Given the description of an element on the screen output the (x, y) to click on. 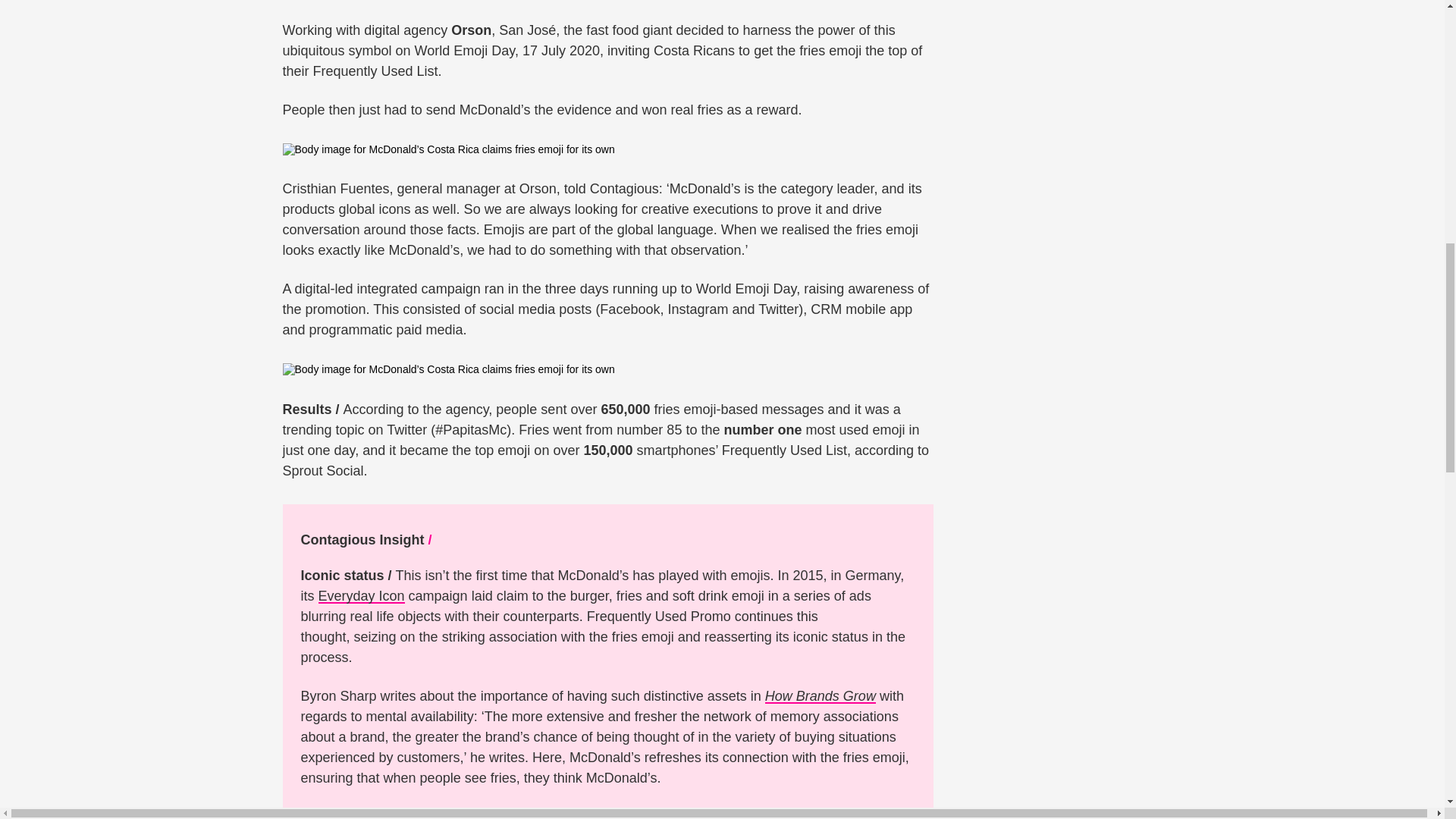
Everyday Icon (361, 595)
weaponising its audience (709, 814)
How Brands Grow (820, 695)
